Given the description of an element on the screen output the (x, y) to click on. 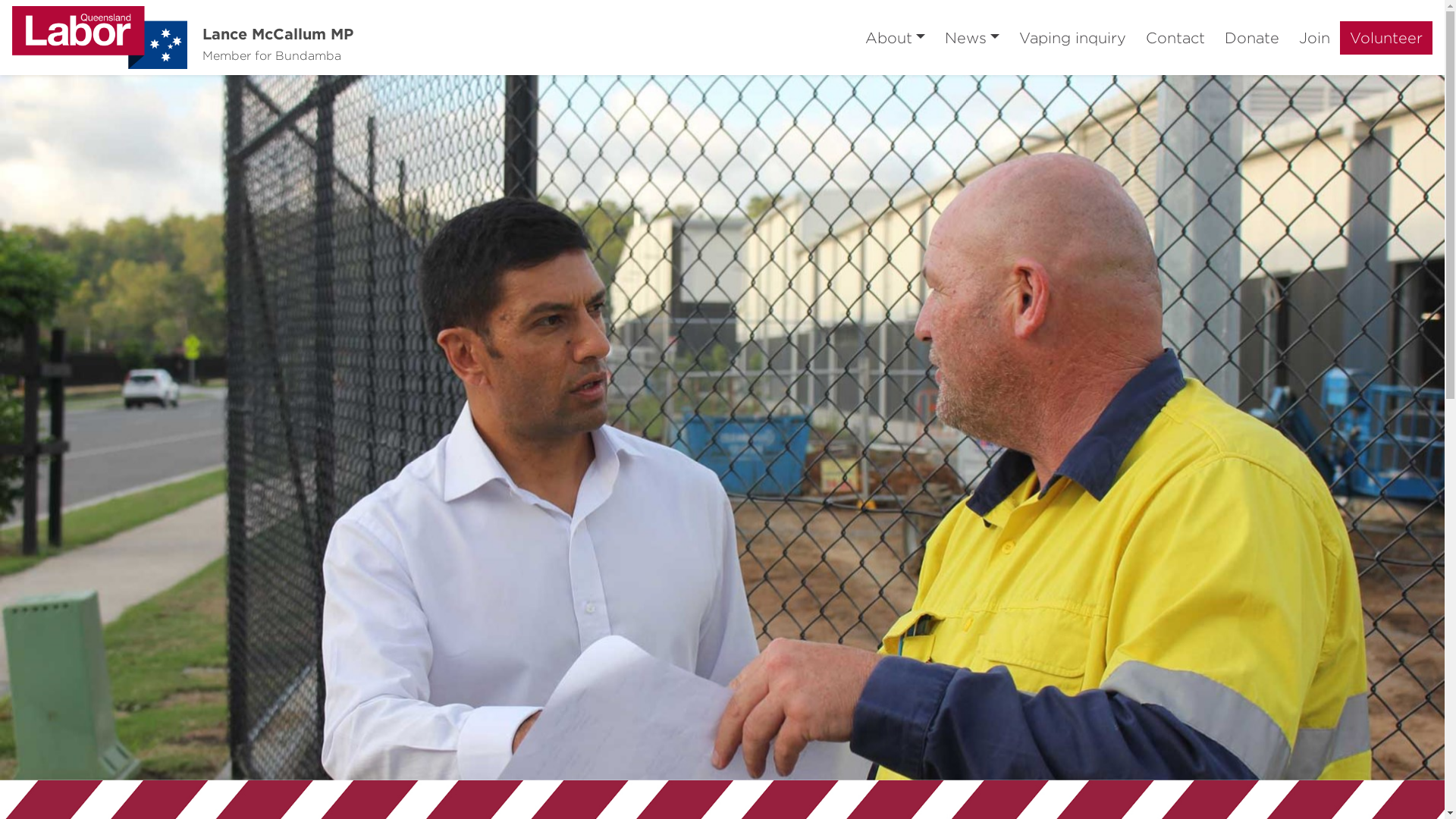
Next Element type: text (1335, 427)
Contact Element type: text (1174, 37)
Join Element type: text (1314, 37)
Vaping inquiry Element type: text (1072, 37)
About Element type: text (895, 37)
Volunteer Element type: text (1385, 37)
Previous Element type: text (108, 427)
News Element type: text (972, 37)
Donate Element type: text (1251, 37)
